Given the description of an element on the screen output the (x, y) to click on. 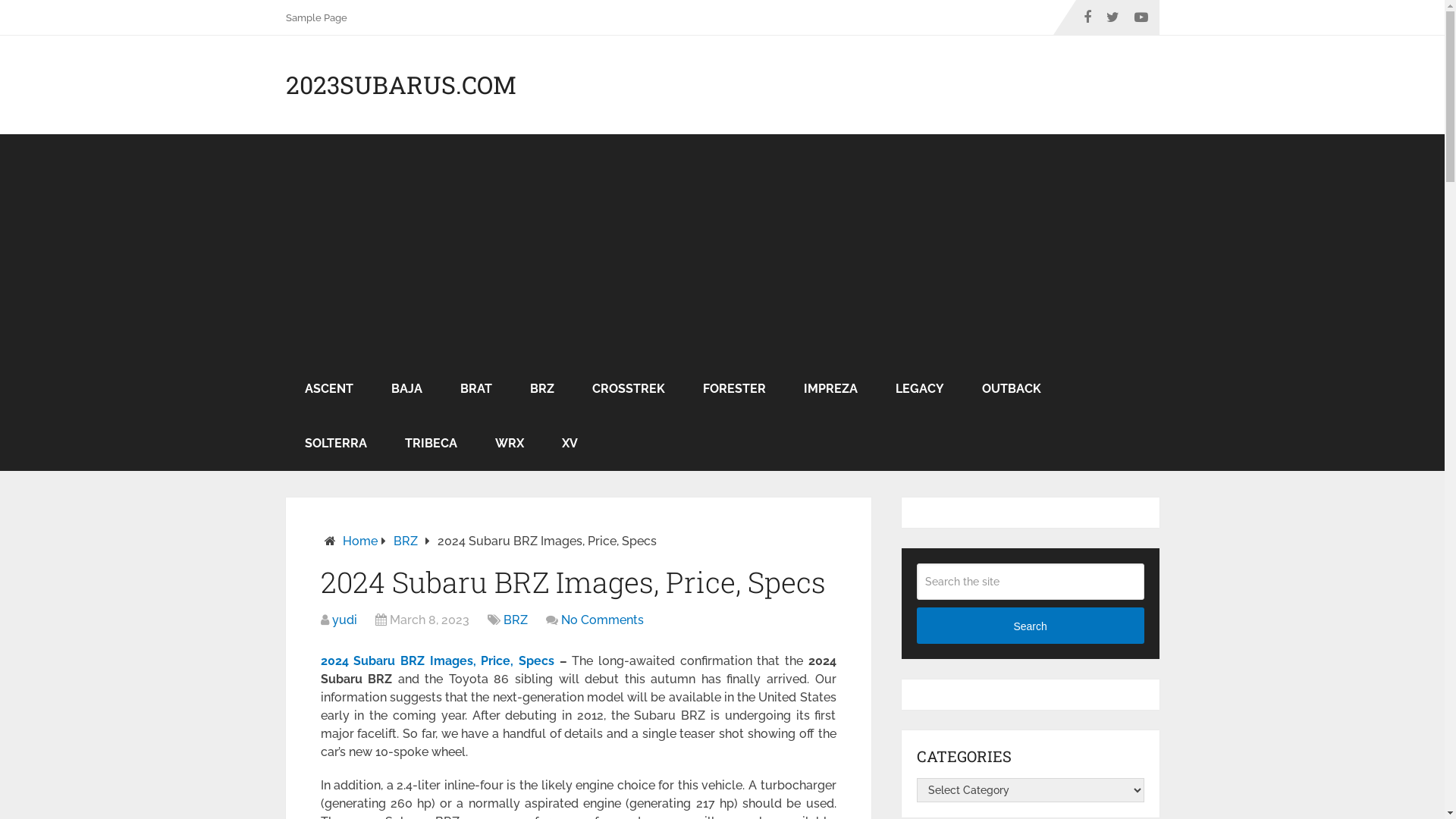
Home Element type: text (359, 540)
BRZ Element type: text (404, 540)
ASCENT Element type: text (328, 388)
Sample Page Element type: text (321, 17)
BRZ Element type: text (515, 619)
Advertisement Element type: hover (721, 247)
LEGACY Element type: text (919, 388)
2023SUBARUS.COM Element type: text (400, 84)
XV Element type: text (569, 443)
2024 Subaru BRZ Images, Price, Specs Element type: text (436, 660)
BRAT Element type: text (476, 388)
WRX Element type: text (509, 443)
Search Element type: text (1030, 625)
CROSSTREK Element type: text (628, 388)
BRZ Element type: text (542, 388)
IMPREZA Element type: text (829, 388)
No Comments Element type: text (602, 619)
OUTBACK Element type: text (1011, 388)
FORESTER Element type: text (734, 388)
BAJA Element type: text (405, 388)
yudi Element type: text (344, 619)
SOLTERRA Element type: text (335, 443)
Pin It Element type: text (236, 280)
Tweet Element type: text (239, 262)
TRIBECA Element type: text (430, 443)
